Given the description of an element on the screen output the (x, y) to click on. 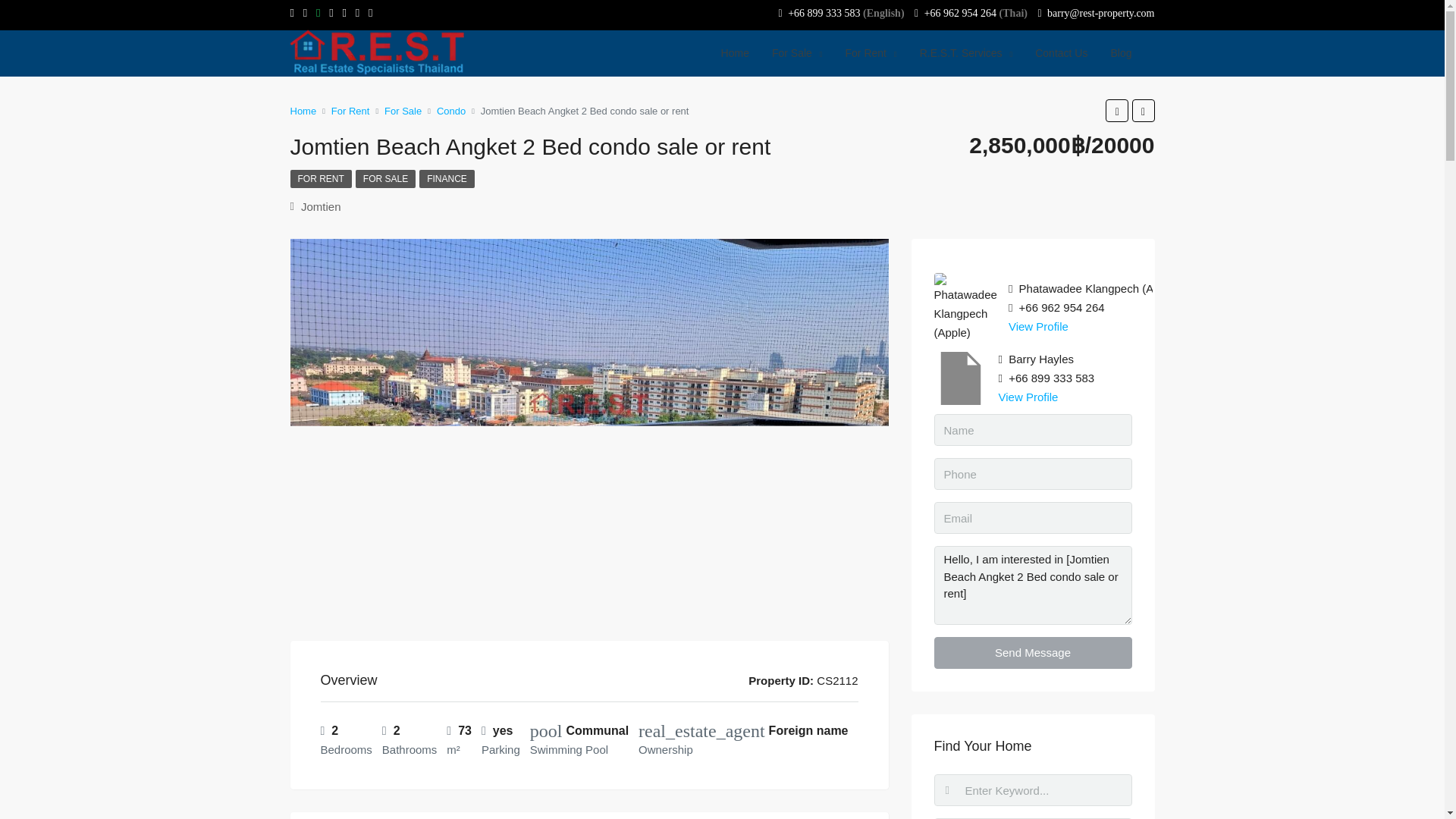
Home (735, 53)
For Sale (797, 53)
For Rent (871, 53)
